Given the description of an element on the screen output the (x, y) to click on. 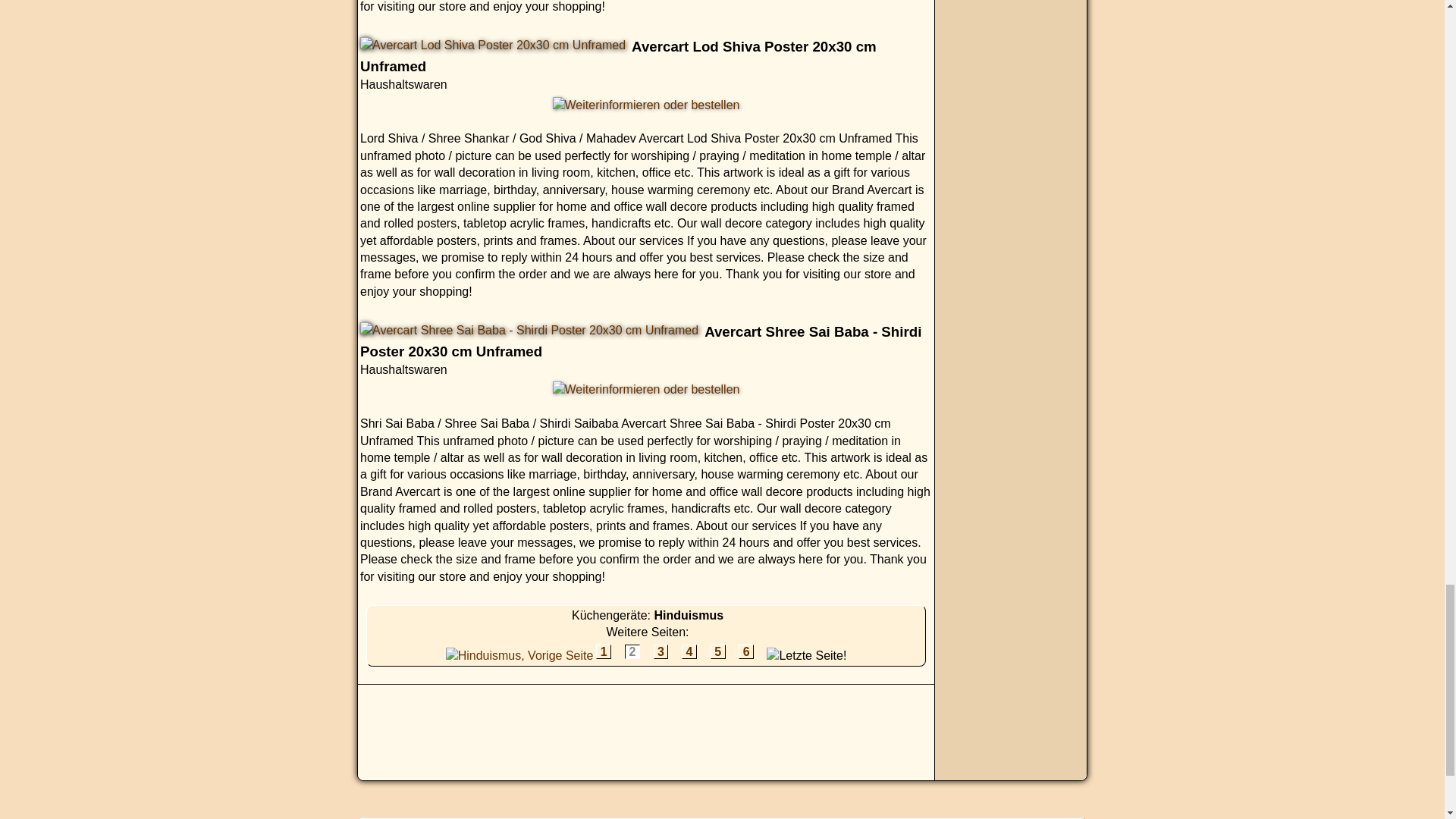
Avercart Lod Shiva Poster 20x30 cm Unframed (492, 45)
Weiterinformieren oder bestellen (646, 105)
 5  (717, 651)
Avercart Shree Sai Baba - Shirdi Poster 20x30 cm Unframed (528, 330)
Weiterinformieren oder bestellen (646, 389)
 3  (660, 651)
 1  (603, 651)
 6  (746, 651)
 4  (689, 651)
